Given the description of an element on the screen output the (x, y) to click on. 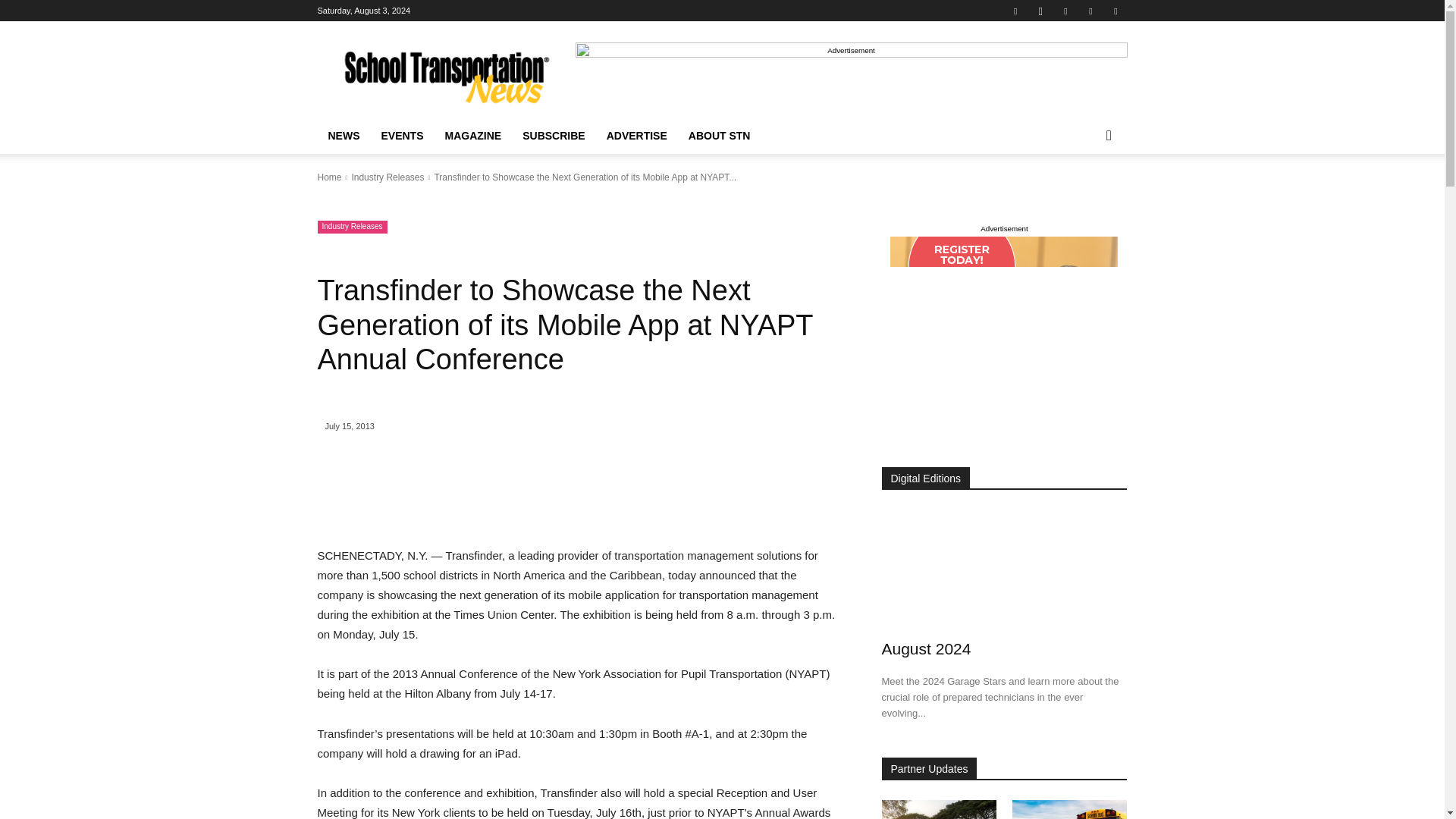
Twitter (1090, 10)
View all posts in Industry Releases (386, 176)
Instagram (1040, 10)
Youtube (1114, 10)
Linkedin (1065, 10)
Facebook (1015, 10)
